Given the description of an element on the screen output the (x, y) to click on. 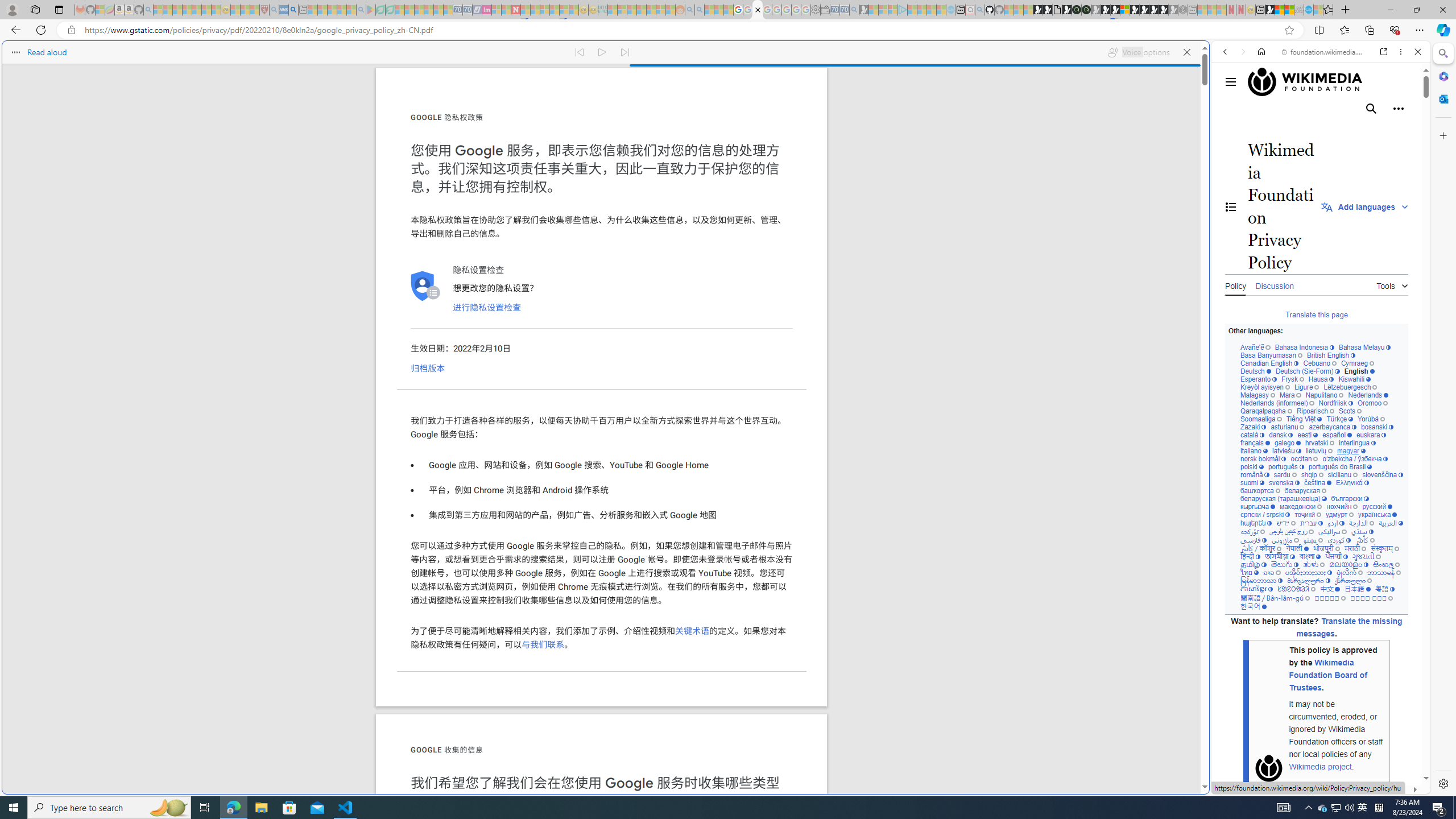
Wikimedia Foundation Governance Wiki (1310, 81)
Search or enter web address (922, 108)
galego (1287, 442)
Basa Banyumasan (1271, 355)
